Given the description of an element on the screen output the (x, y) to click on. 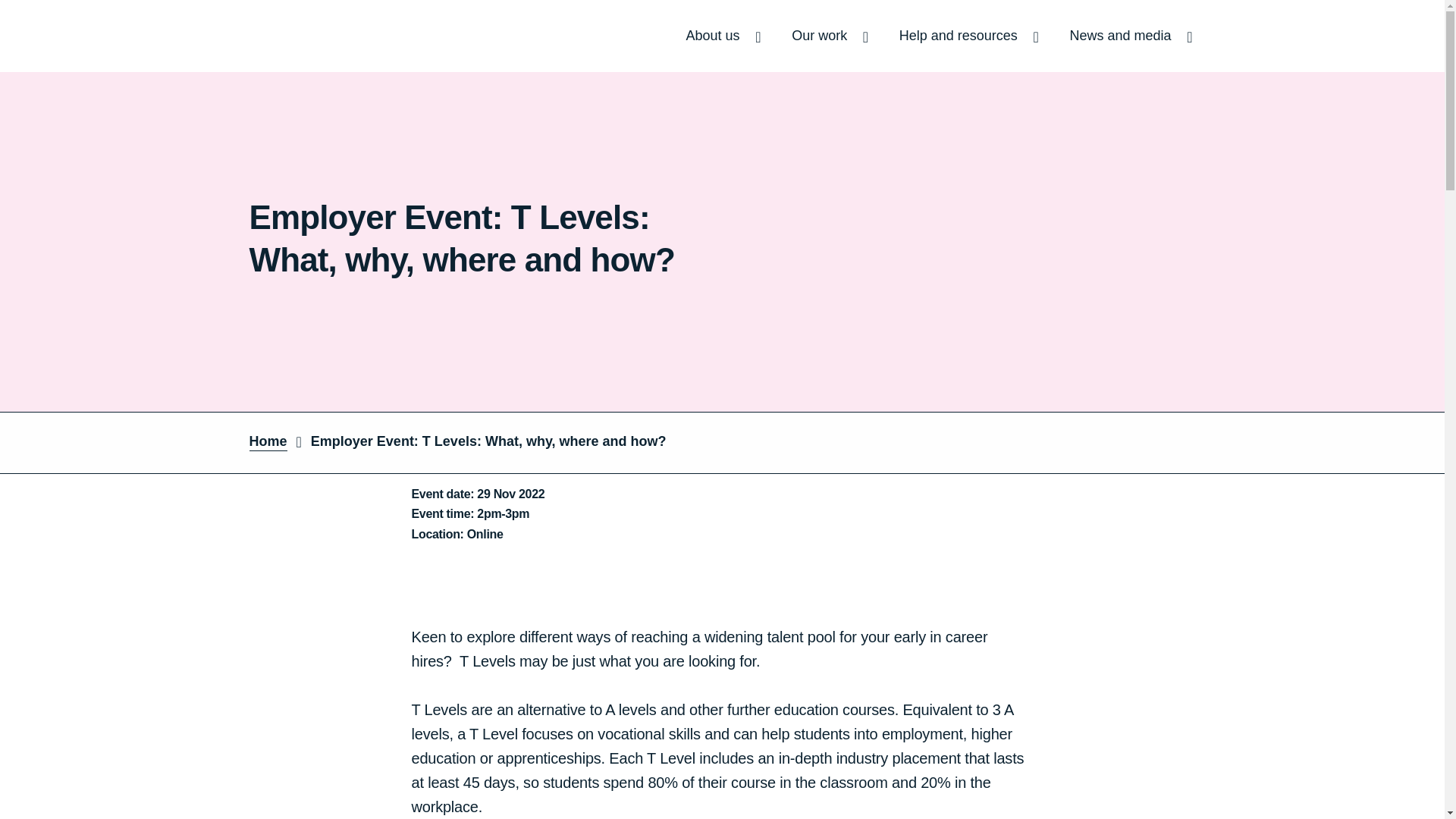
News and media (1130, 45)
Help and resources (969, 45)
Our work (829, 45)
About us (722, 45)
